Given the description of an element on the screen output the (x, y) to click on. 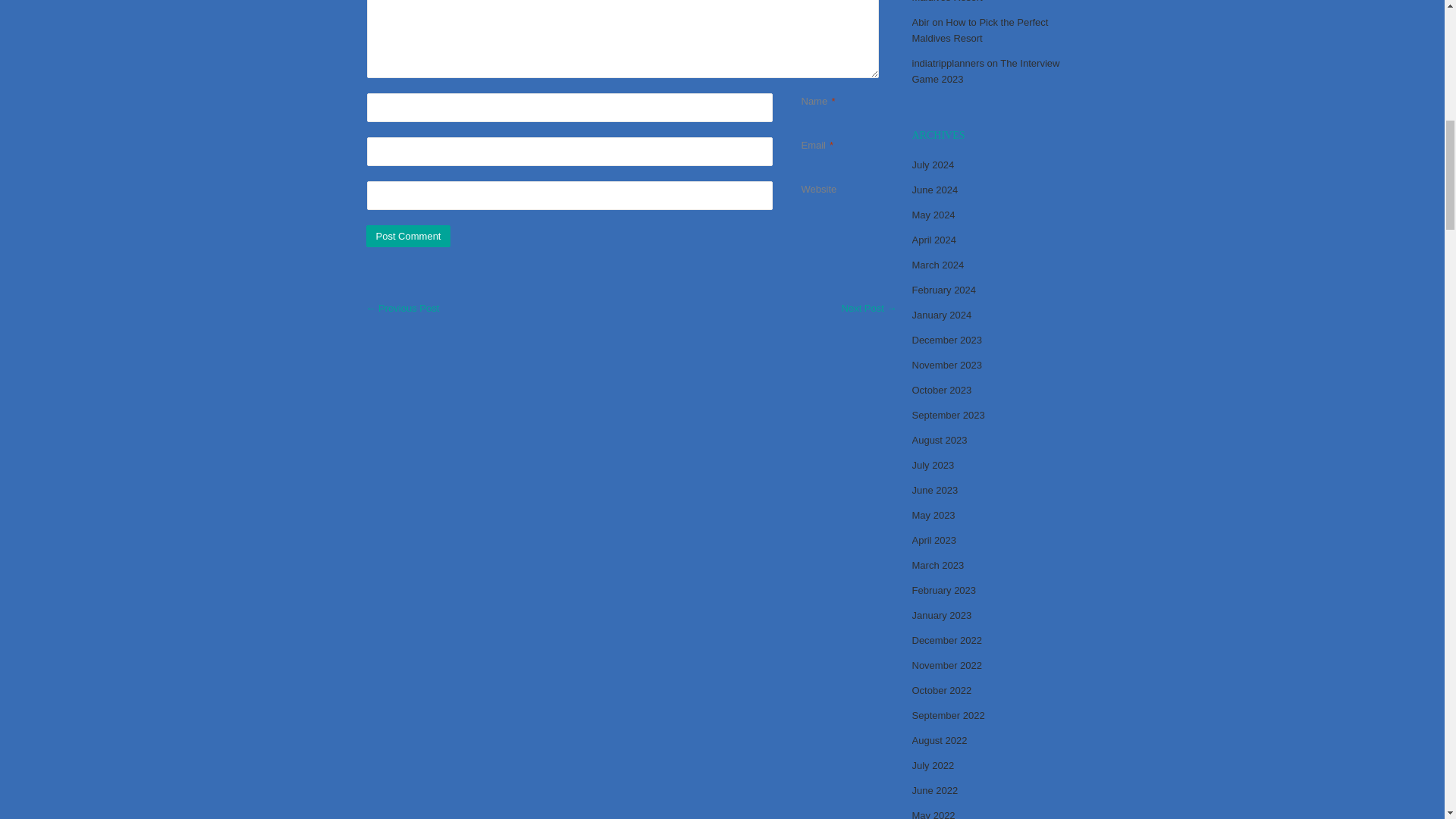
Post Comment (407, 236)
Post Comment (407, 236)
